Given the description of an element on the screen output the (x, y) to click on. 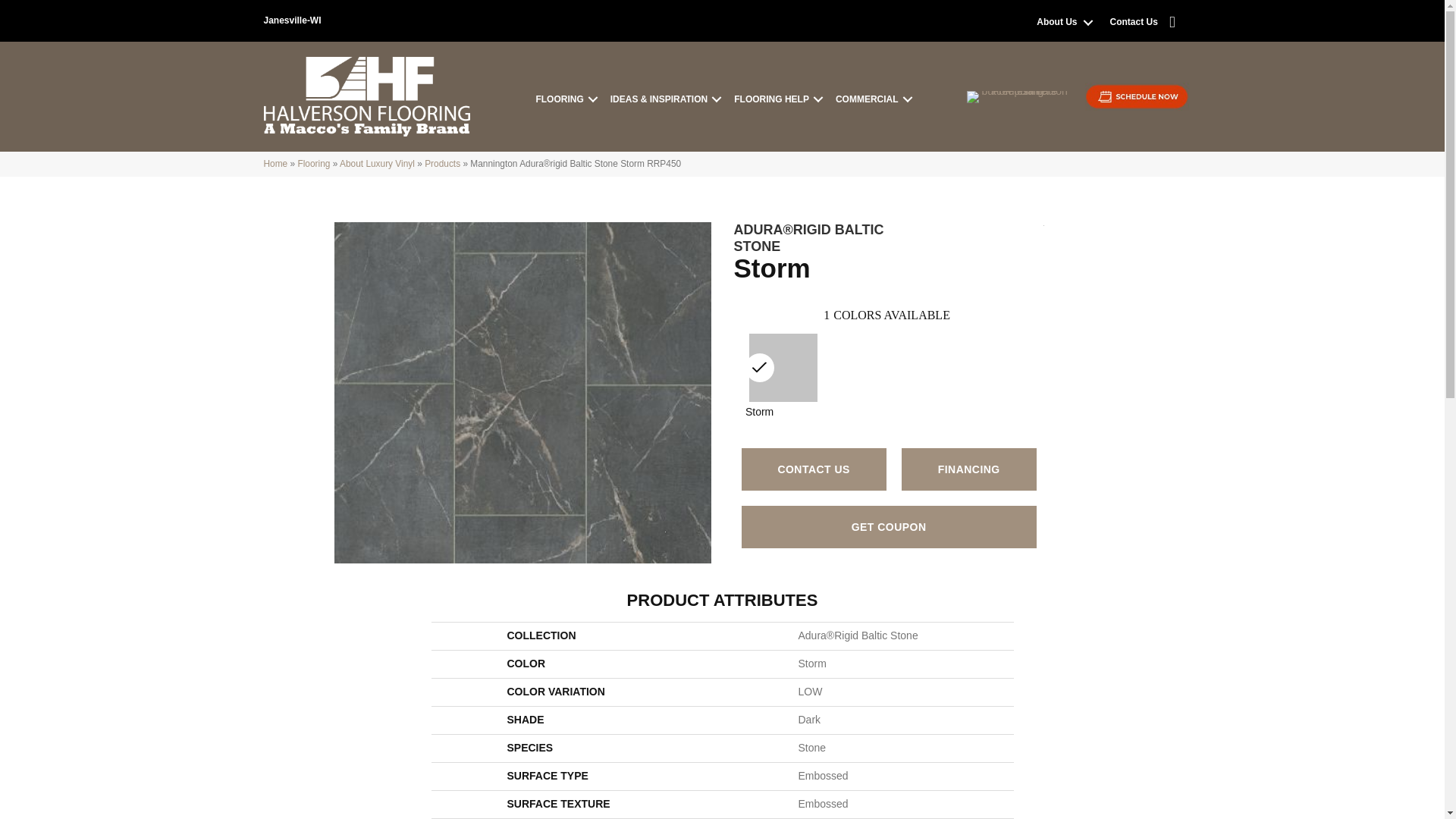
Macco-Halverson logo-white (366, 96)
Janesville-WI (292, 20)
Contact Us (1134, 21)
FLOORING (564, 99)
About Us (1061, 21)
